Given the description of an element on the screen output the (x, y) to click on. 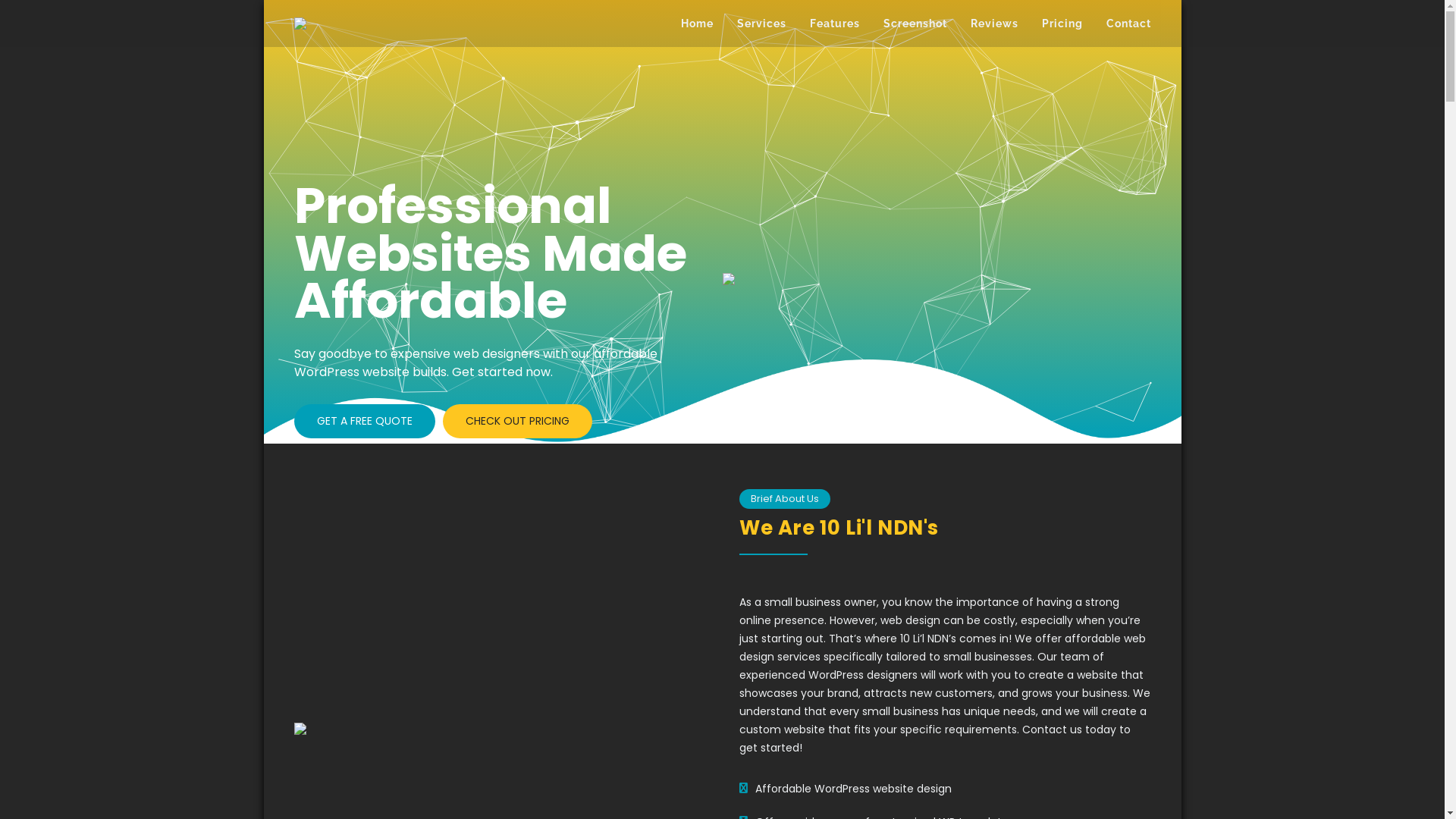
CHECK OUT PRICING Element type: text (517, 421)
Services Element type: text (761, 23)
Screenshot Element type: text (914, 23)
Home Element type: text (696, 23)
Features Element type: text (834, 23)
Contact Element type: text (1124, 23)
Pricing Element type: text (1061, 23)
GET A FREE QUOTE Element type: text (364, 421)
Reviews Element type: text (994, 23)
